Given the description of an element on the screen output the (x, y) to click on. 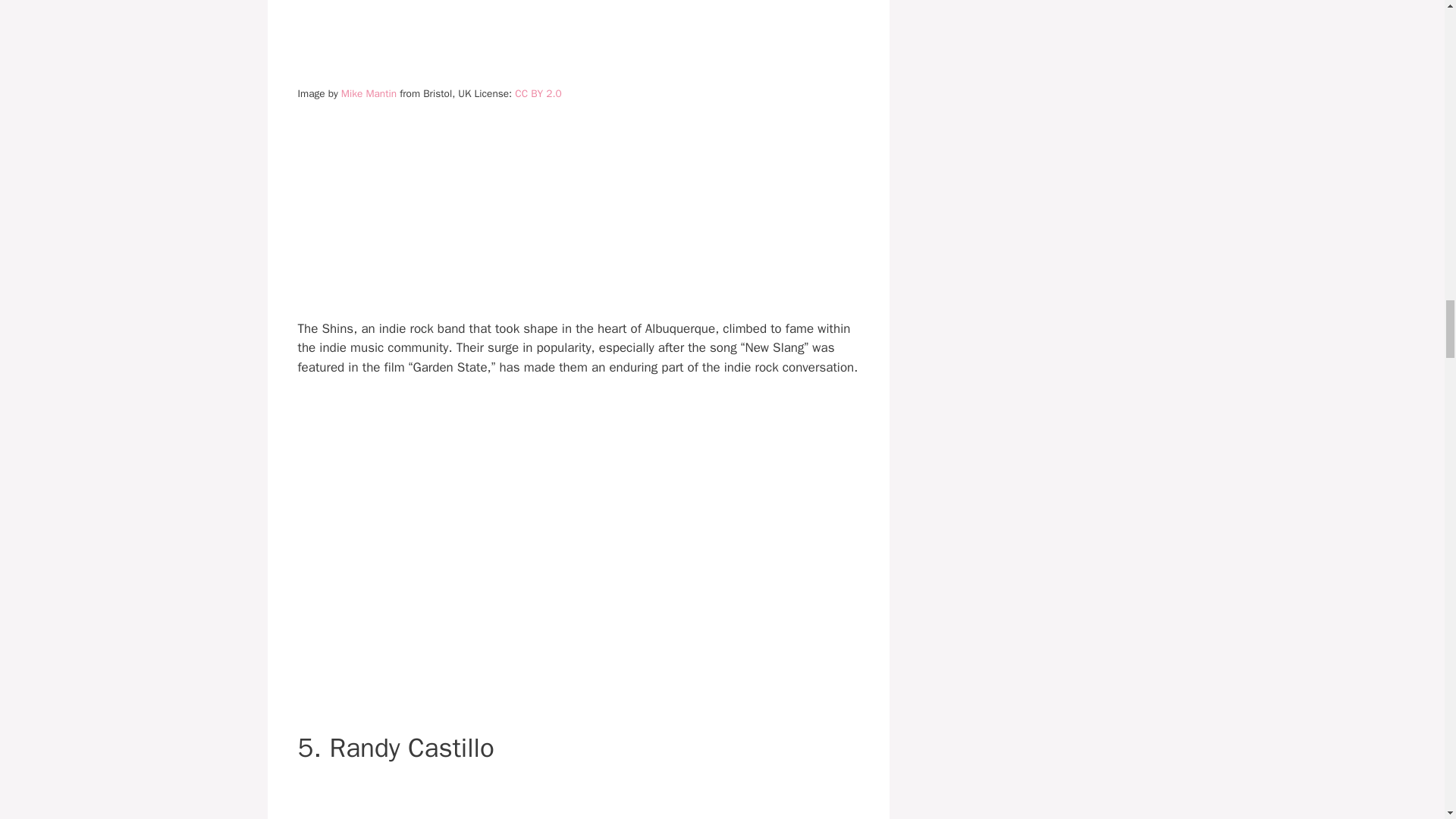
Mike Mantin (368, 92)
CC BY 2.0 (537, 92)
